Given the description of an element on the screen output the (x, y) to click on. 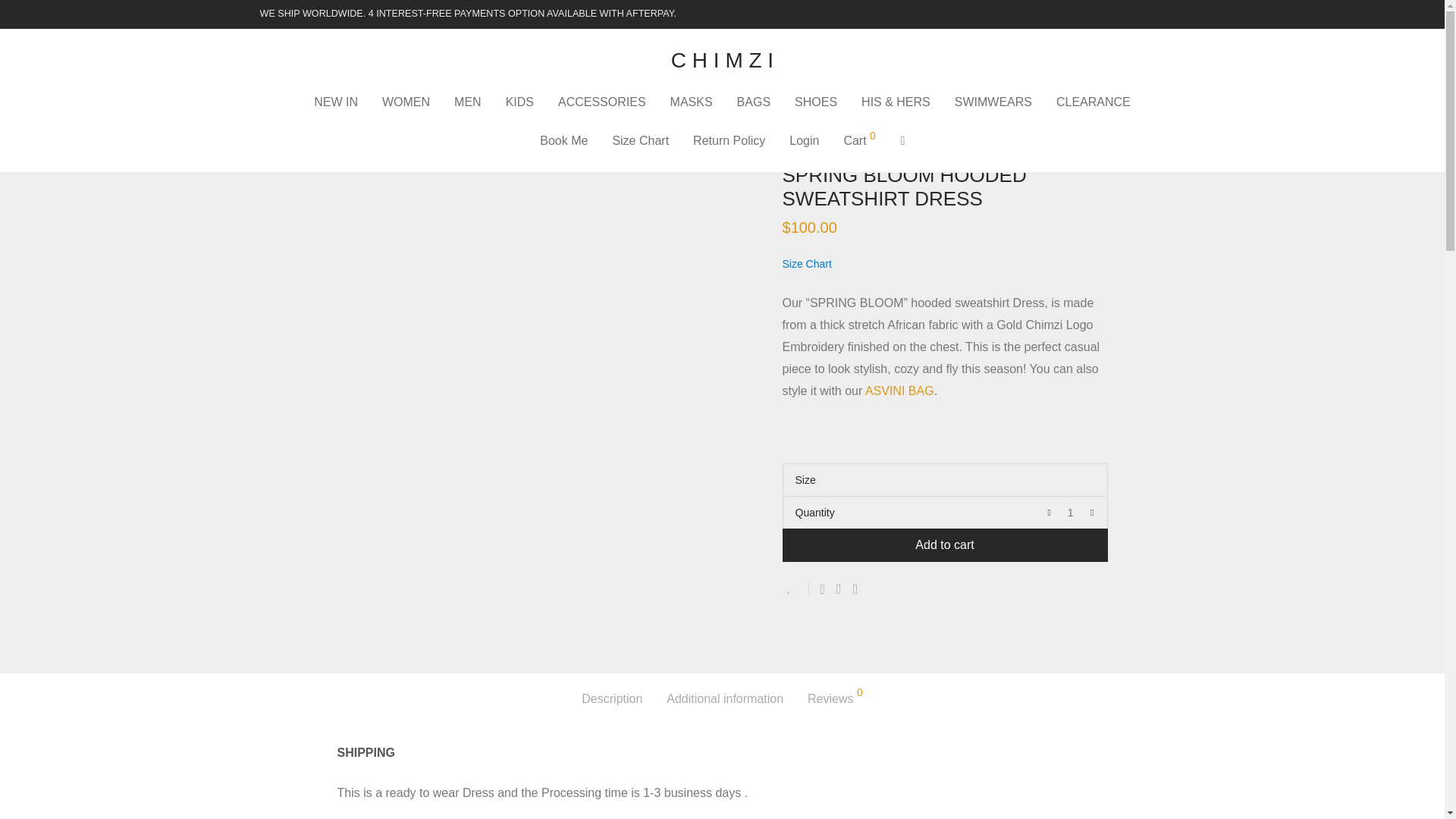
BAGS (754, 102)
MASKS (691, 102)
KIDS (519, 102)
NEW IN (335, 102)
ACCESSORIES (602, 102)
SHOES (815, 102)
Add to Wishlist (796, 587)
WOMEN (405, 102)
MEN (467, 102)
